Given the description of an element on the screen output the (x, y) to click on. 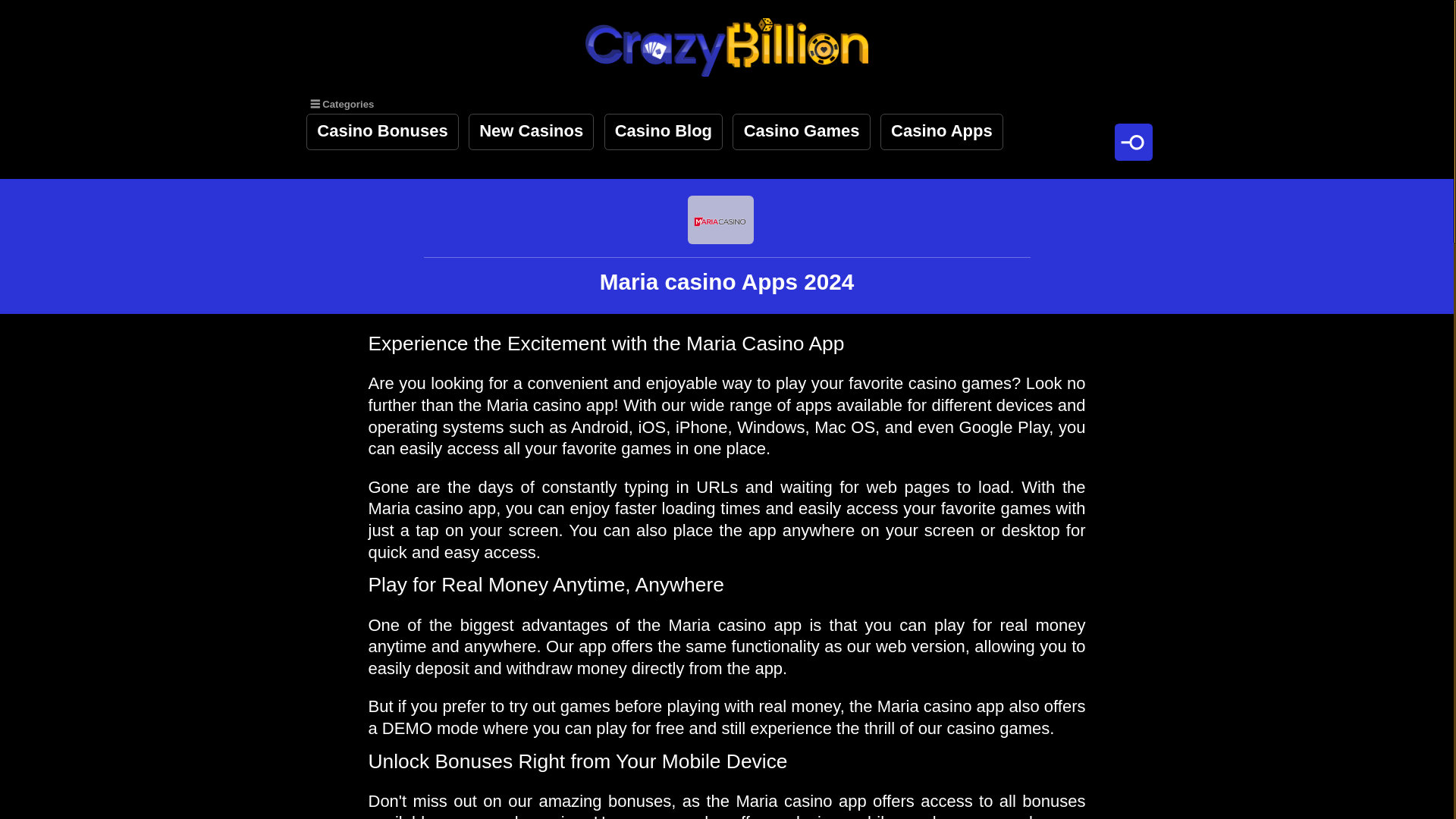
Casino Apps (941, 131)
Casino Games (800, 131)
Casino Bonuses (381, 131)
New Casinos (531, 131)
Casino Blog (663, 131)
